Given the description of an element on the screen output the (x, y) to click on. 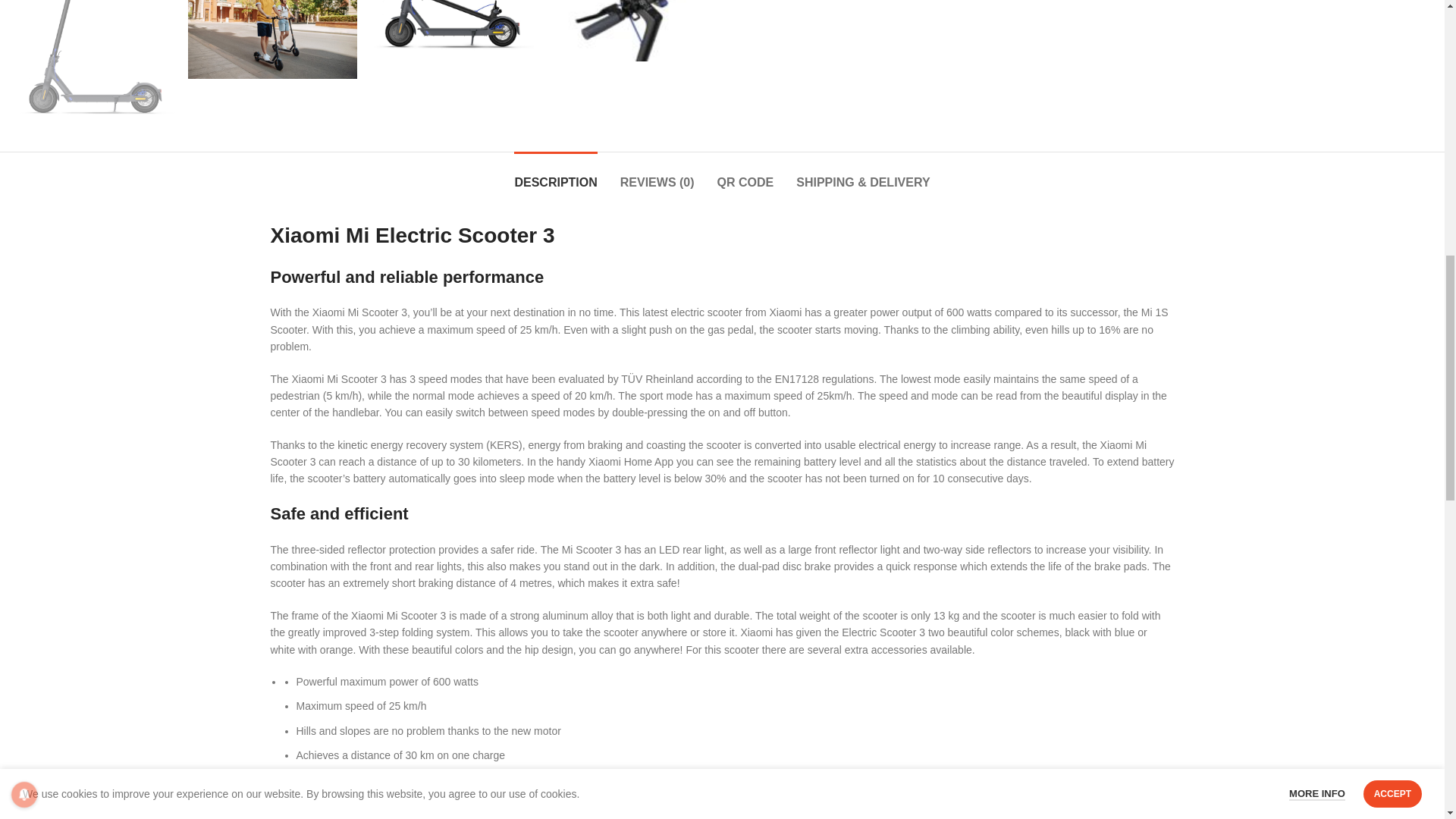
- (940, 35)
1 (962, 35)
